Given the description of an element on the screen output the (x, y) to click on. 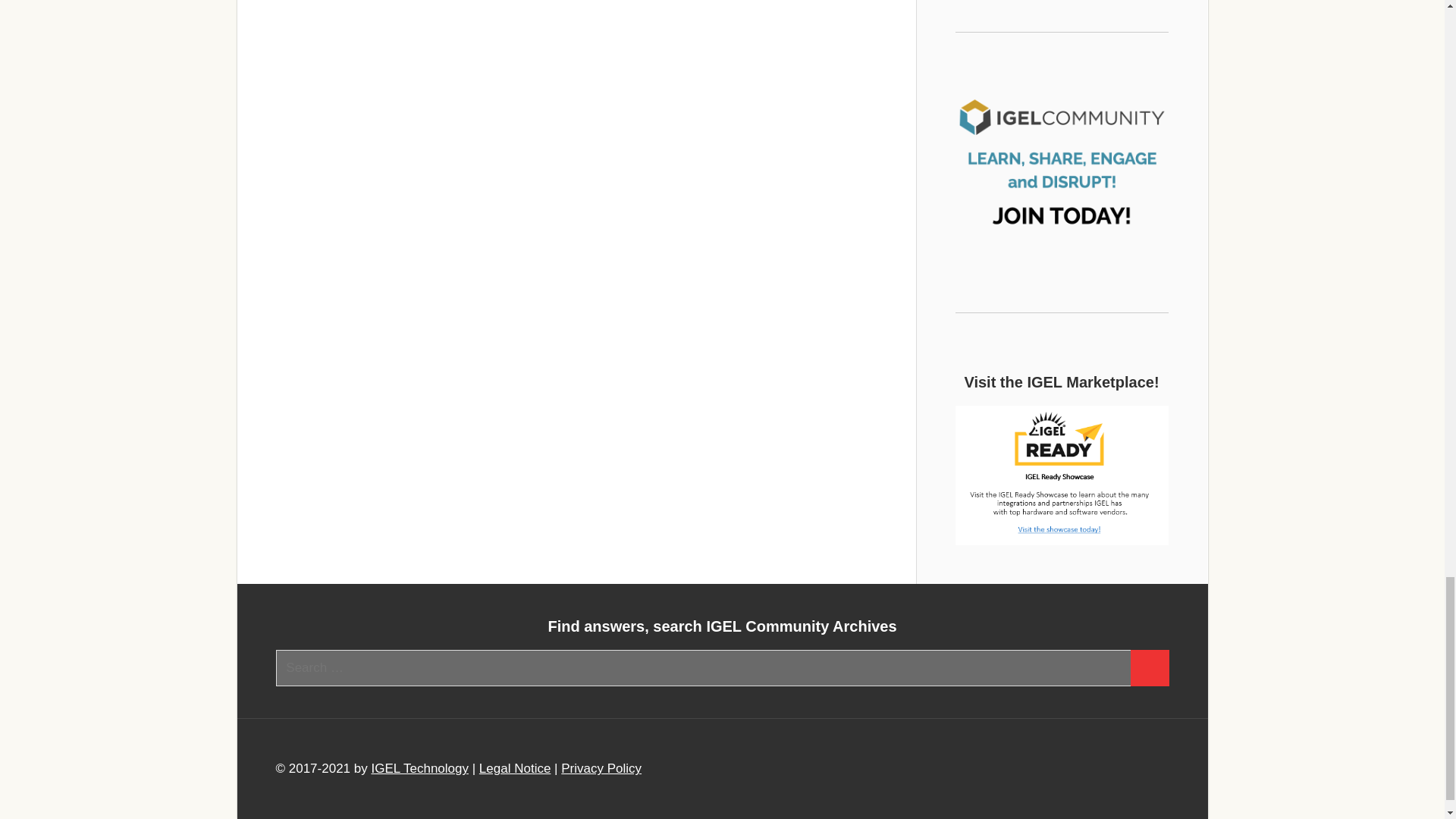
Visit the IGEL Marketplace! (1062, 475)
Search for: (704, 668)
